Given the description of an element on the screen output the (x, y) to click on. 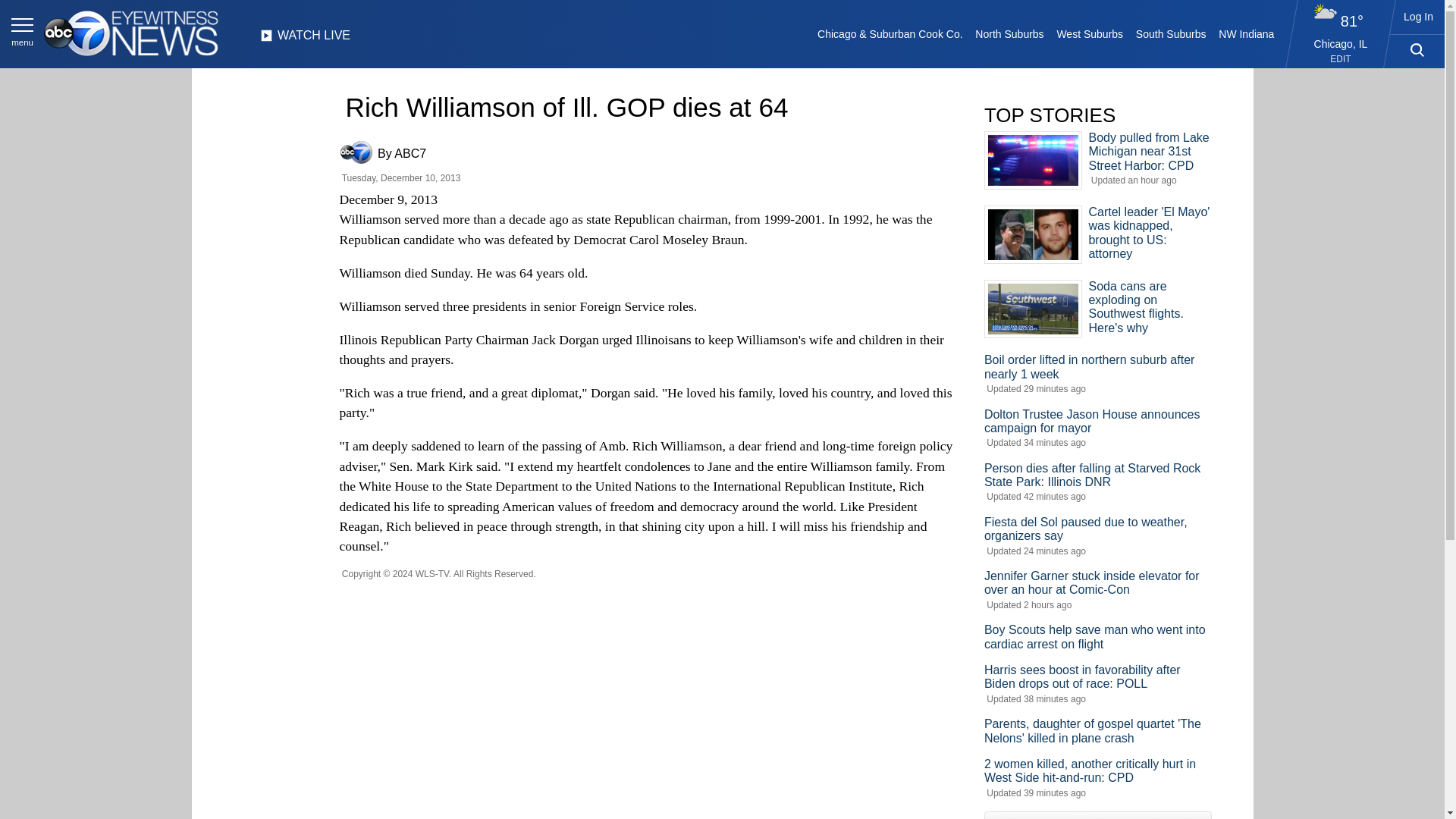
North Suburbs (1009, 33)
South Suburbs (1170, 33)
NW Indiana (1246, 33)
EDIT (1340, 59)
Chicago, IL (1340, 43)
WATCH LIVE (305, 39)
West Suburbs (1089, 33)
